Given the description of an element on the screen output the (x, y) to click on. 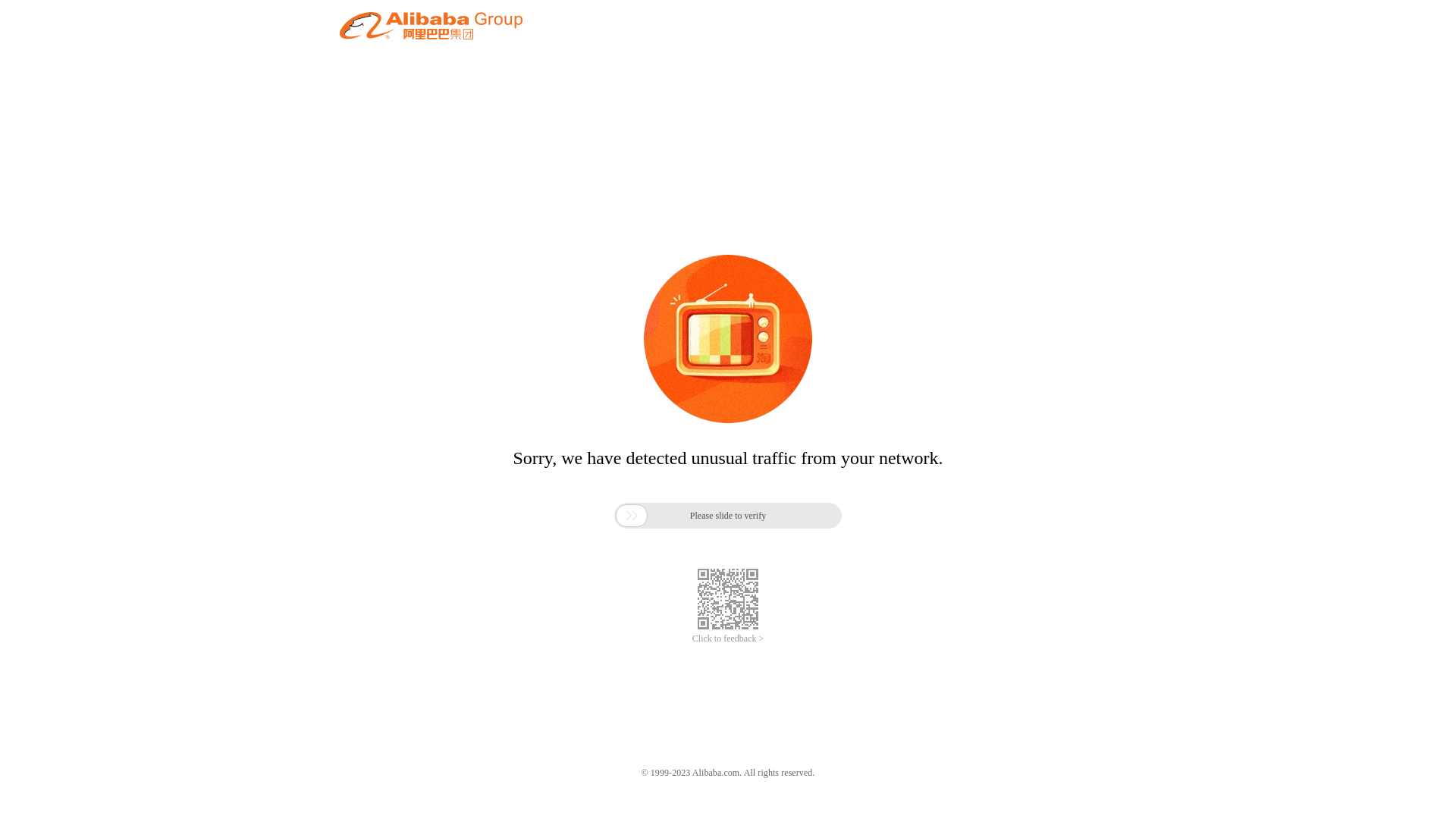
Click to feedback > Element type: text (727, 638)
